Given the description of an element on the screen output the (x, y) to click on. 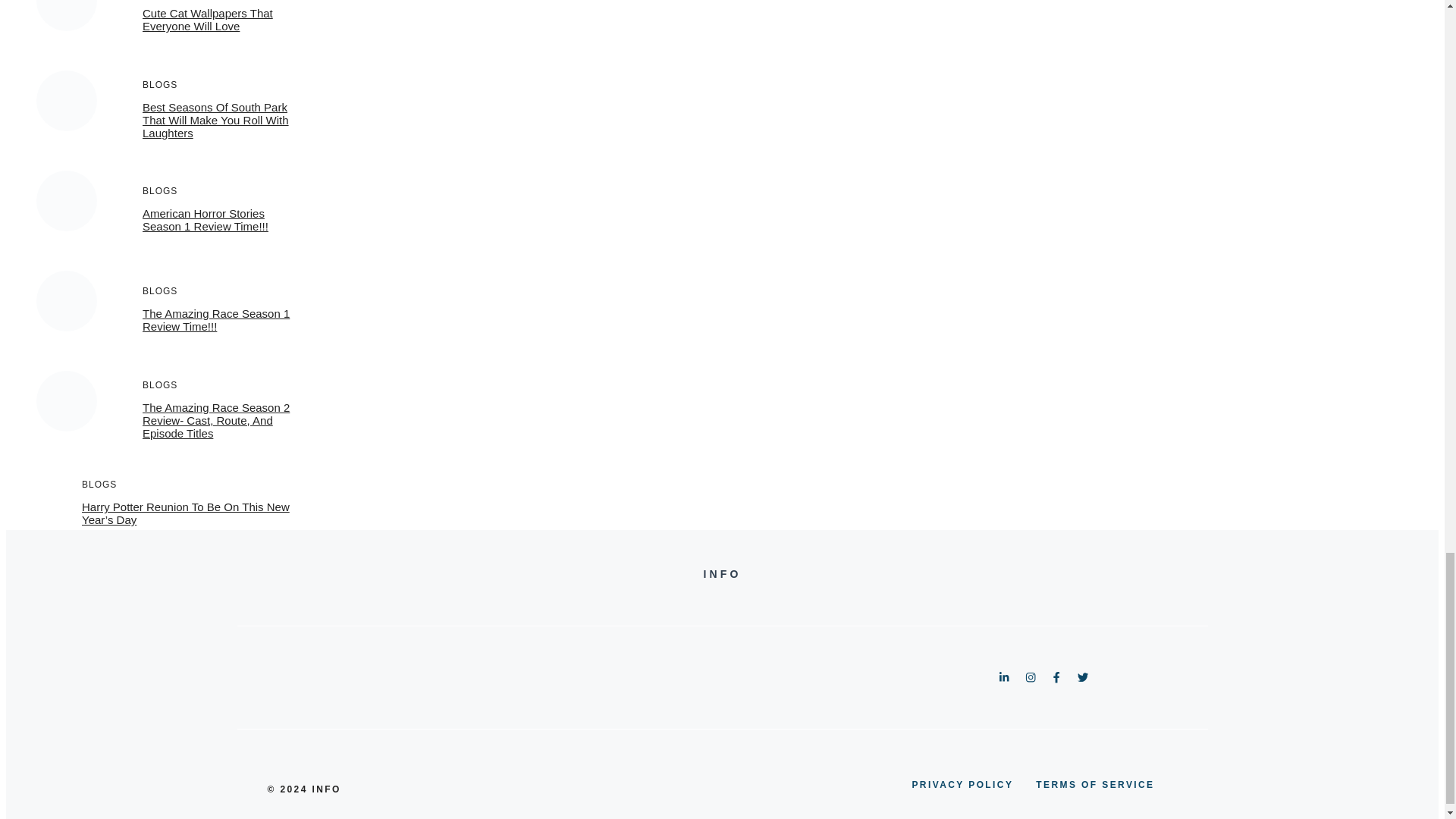
PRIVACY POLICY (962, 784)
Cute Cat Wallpapers That Everyone Will Love (207, 19)
American Horror Stories Season 1 Review Time!!! (204, 219)
The Amazing Race Season 1 Review Time!!! (215, 319)
TERMS OF SERVICE (1094, 784)
